Given the description of an element on the screen output the (x, y) to click on. 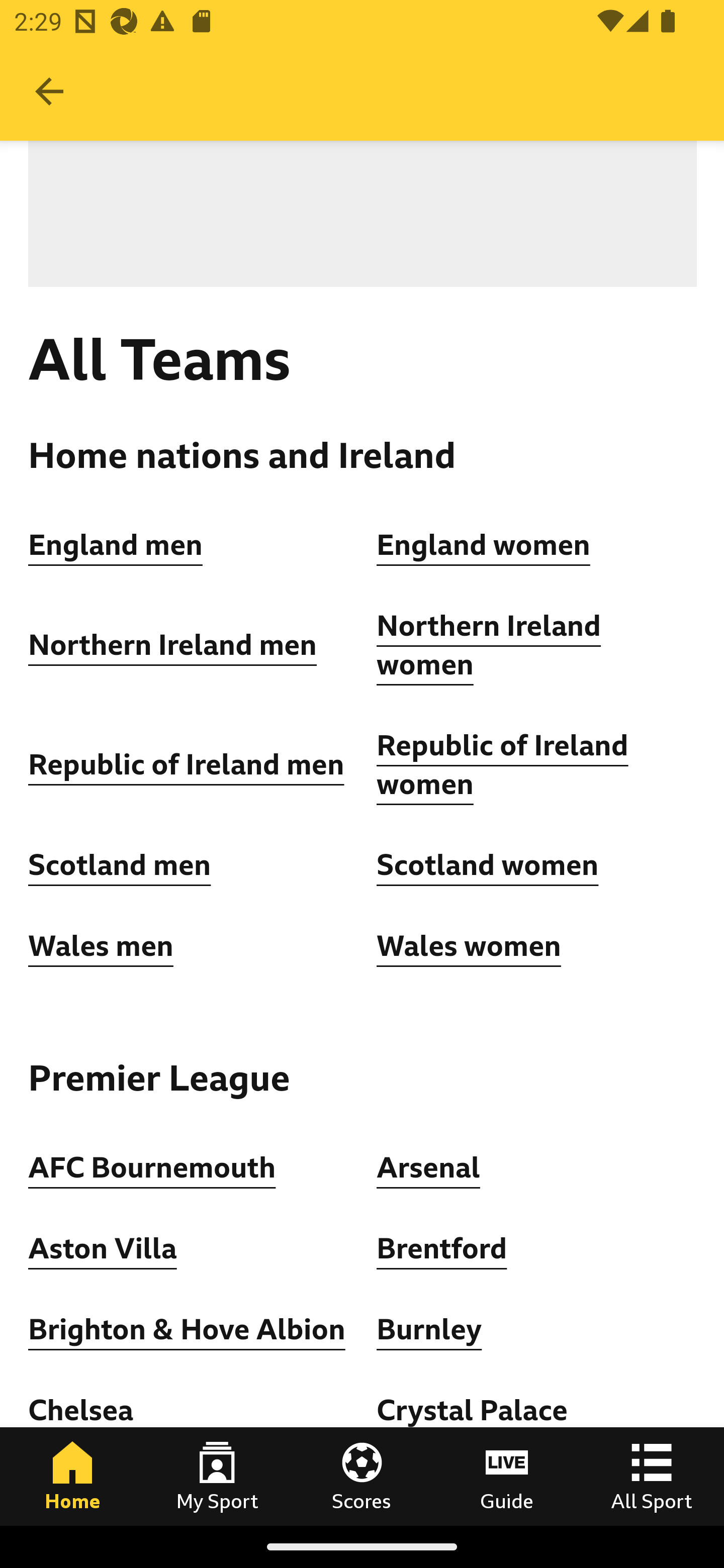
Navigate up (49, 91)
England men (116, 545)
England women (483, 545)
Northern Ireland women (488, 645)
Northern Ireland men (173, 645)
Republic of Ireland women (502, 764)
Republic of Ireland men (186, 764)
Scotland men (120, 865)
Scotland women (487, 865)
Wales men (100, 946)
Wales women (468, 946)
AFC Bournemouth (151, 1167)
Arsenal (428, 1167)
Aston Villa (102, 1248)
Brentford (442, 1248)
Brighton & Hove Albion (187, 1329)
Burnley (429, 1329)
Chelsea (80, 1410)
Crystal Palace (472, 1410)
My Sport (216, 1475)
Scores (361, 1475)
Guide (506, 1475)
All Sport (651, 1475)
